Given the description of an element on the screen output the (x, y) to click on. 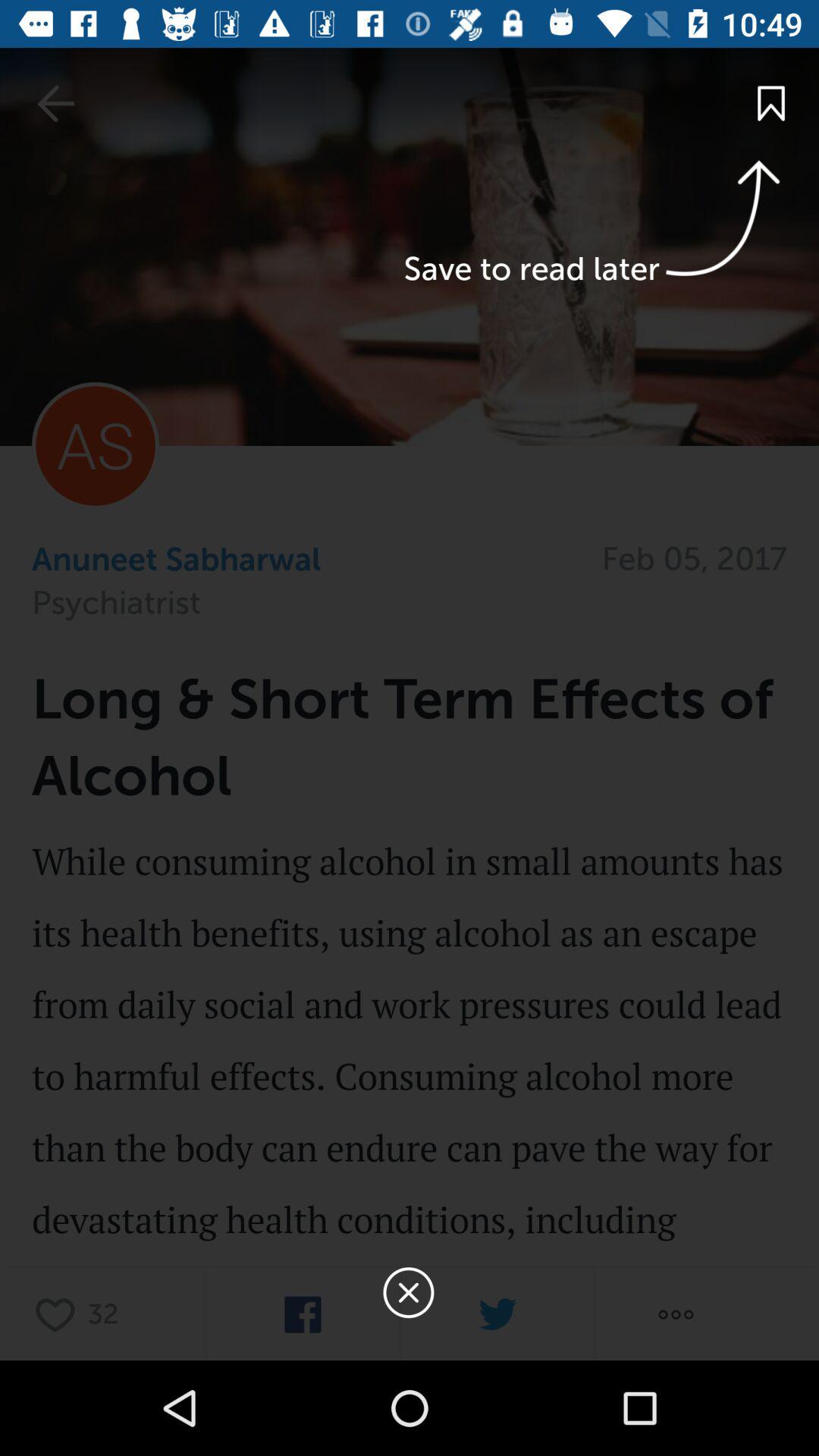
send to twitter (497, 1314)
